Given the description of an element on the screen output the (x, y) to click on. 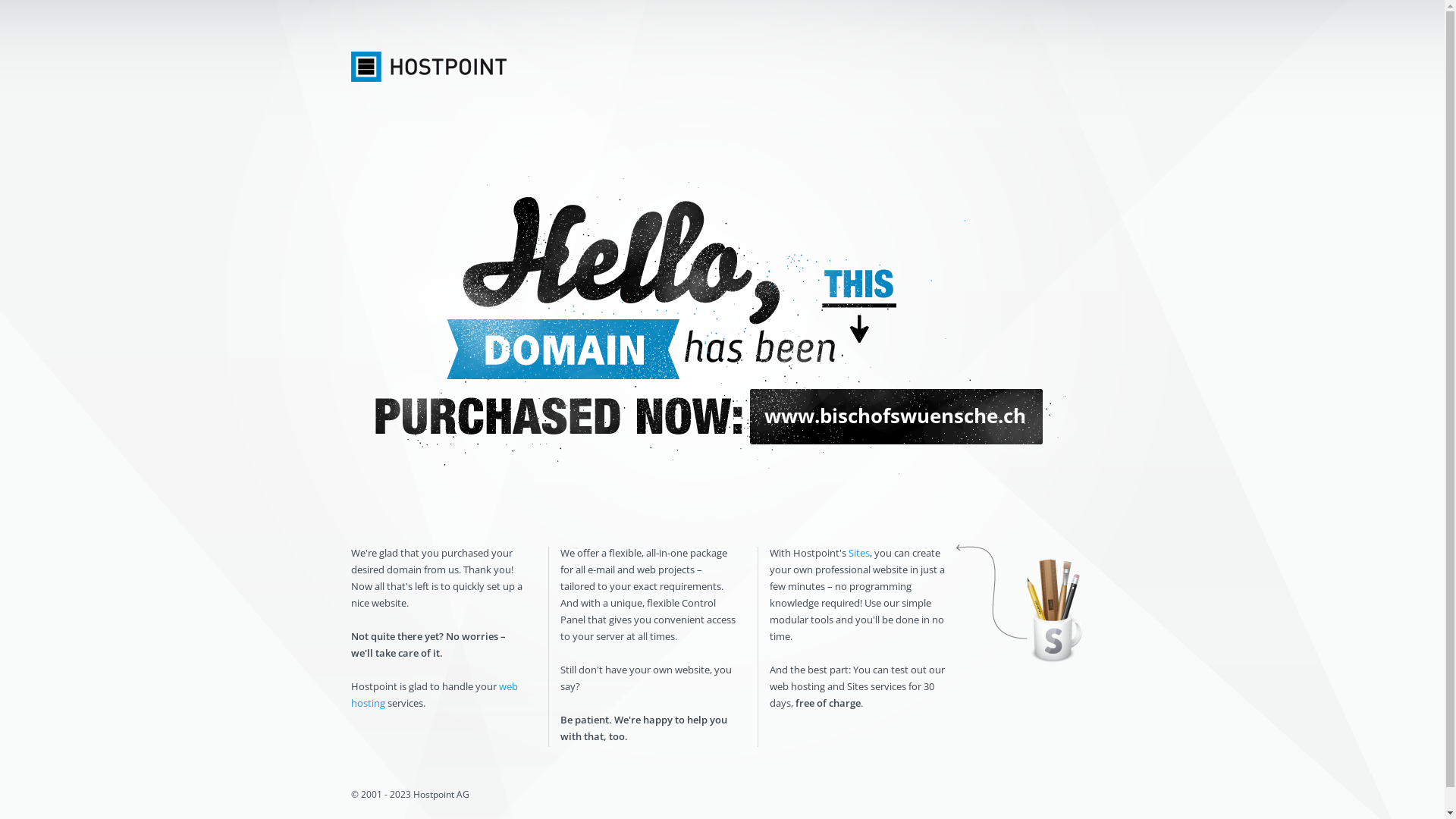
web hosting Element type: text (433, 694)
Sites Element type: text (858, 552)
